Given the description of an element on the screen output the (x, y) to click on. 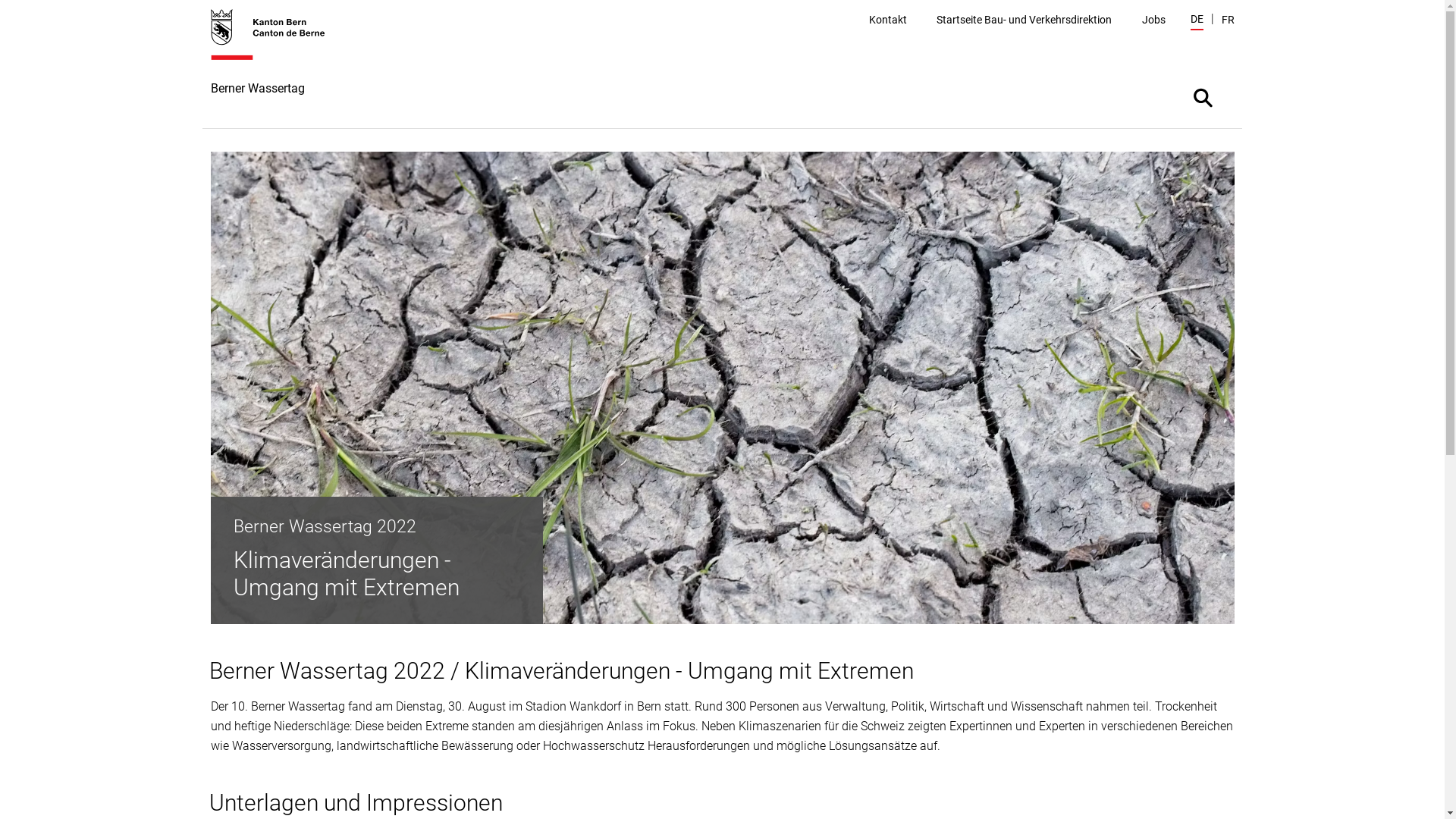
Berner Wassertag Element type: text (275, 68)
Jobs Element type: text (1153, 19)
Kontakt Element type: text (887, 19)
DE Element type: text (1196, 21)
Suche ein- oder ausblenden Element type: text (1201, 96)
Startseite Bau- und Verkehrsdirektion Element type: text (1023, 19)
FR Element type: text (1226, 19)
